Given the description of an element on the screen output the (x, y) to click on. 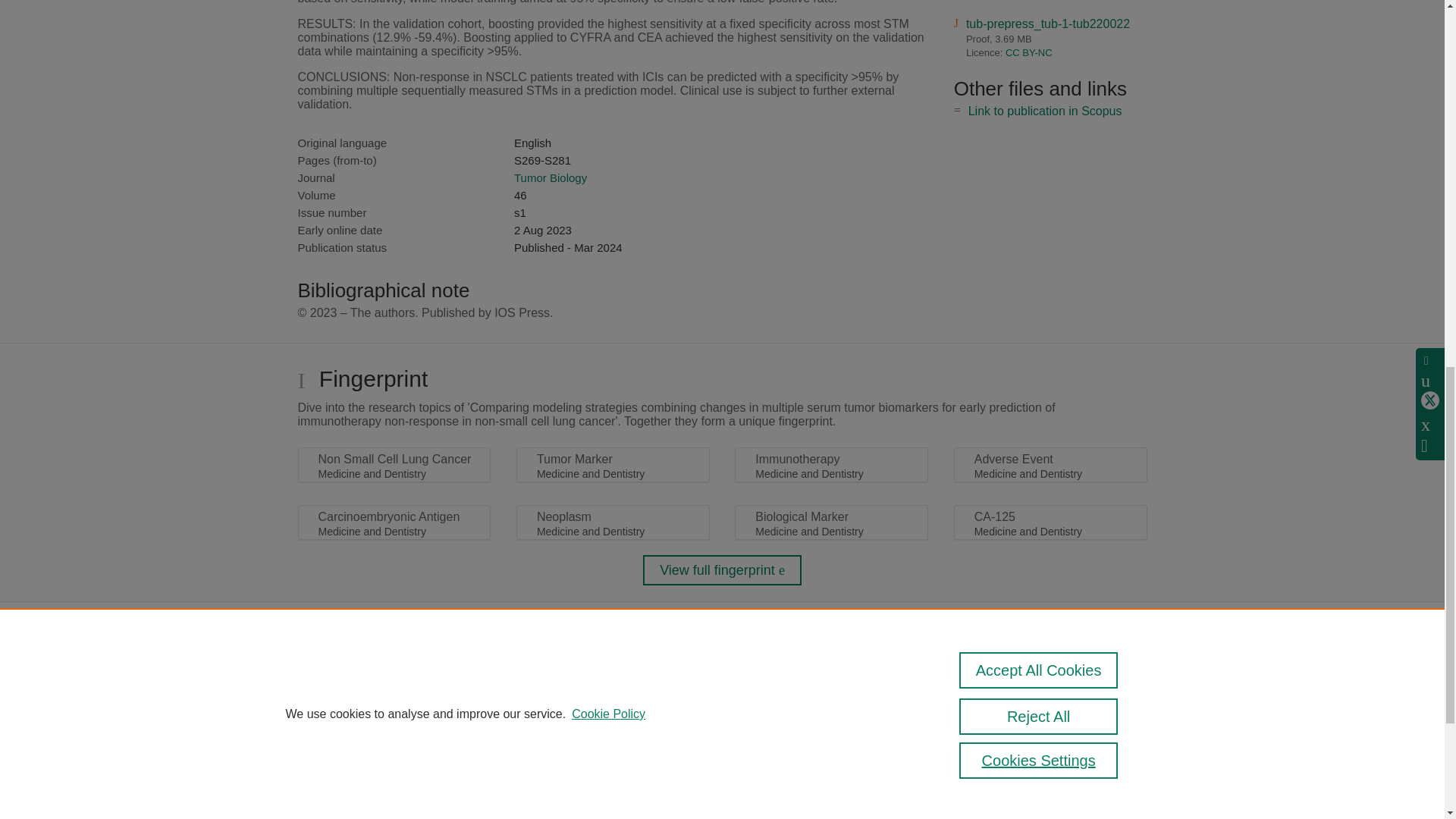
CC BY-NC (1029, 52)
Link to publication in Scopus (1045, 110)
Tumor Biology (549, 177)
View full fingerprint (722, 570)
